Given the description of an element on the screen output the (x, y) to click on. 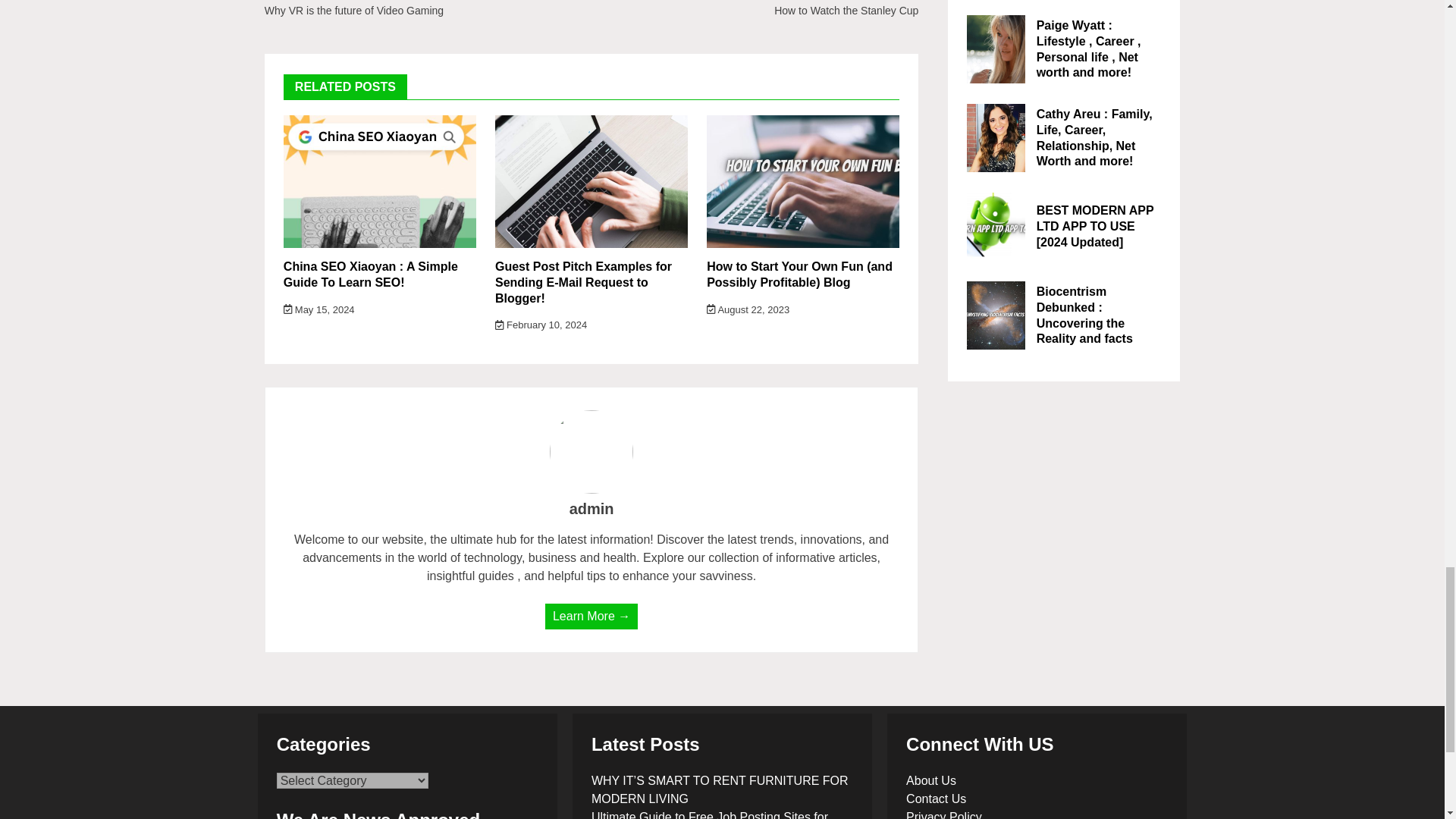
Previous: Why VR is the future of Video Gaming (387, 9)
